Given the description of an element on the screen output the (x, y) to click on. 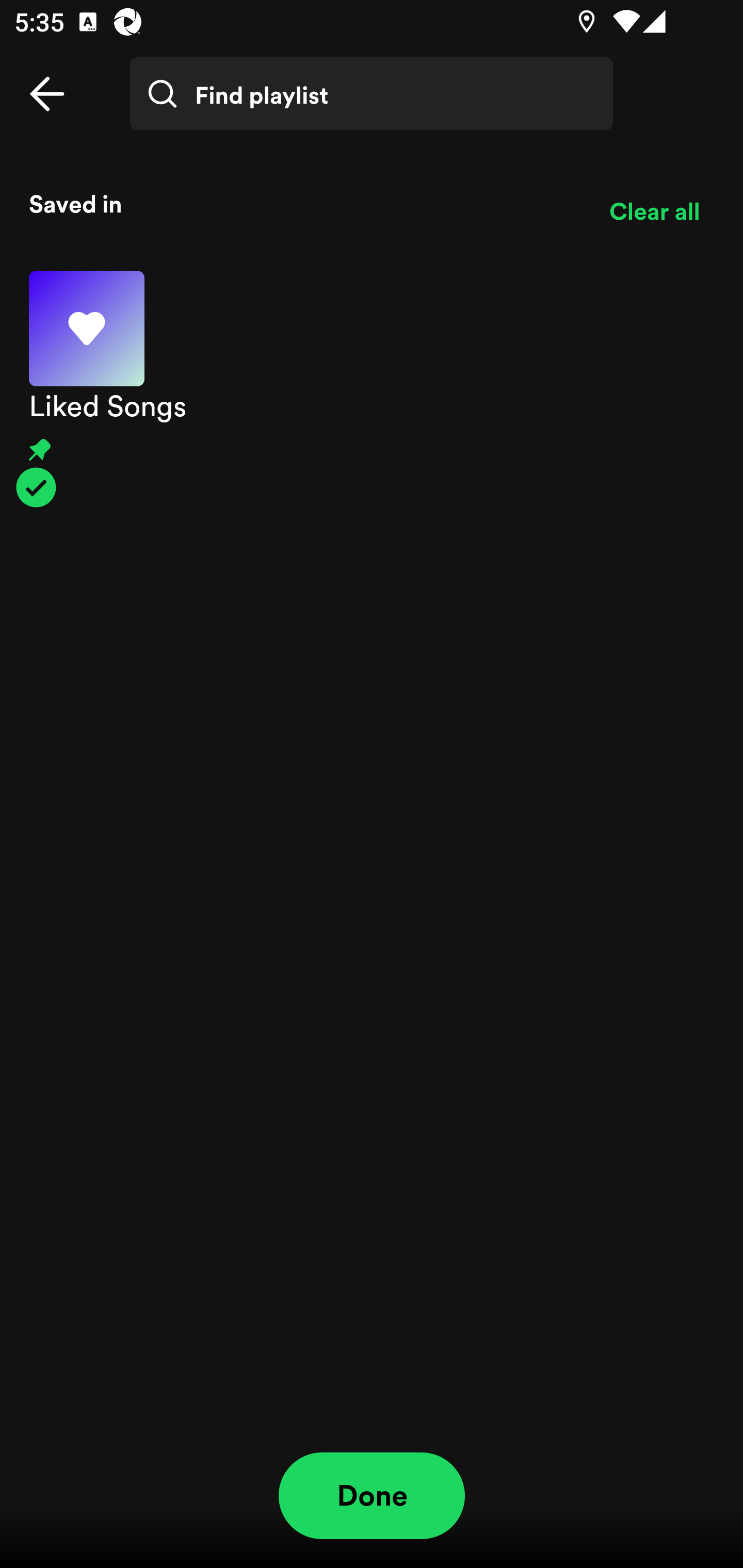
Back (46, 93)
Find playlist (371, 94)
Clear Find playlist (666, 108)
Saved in (304, 203)
Clear all (654, 211)
Liked Songs Pinned (371, 389)
Done (371, 1495)
